Given the description of an element on the screen output the (x, y) to click on. 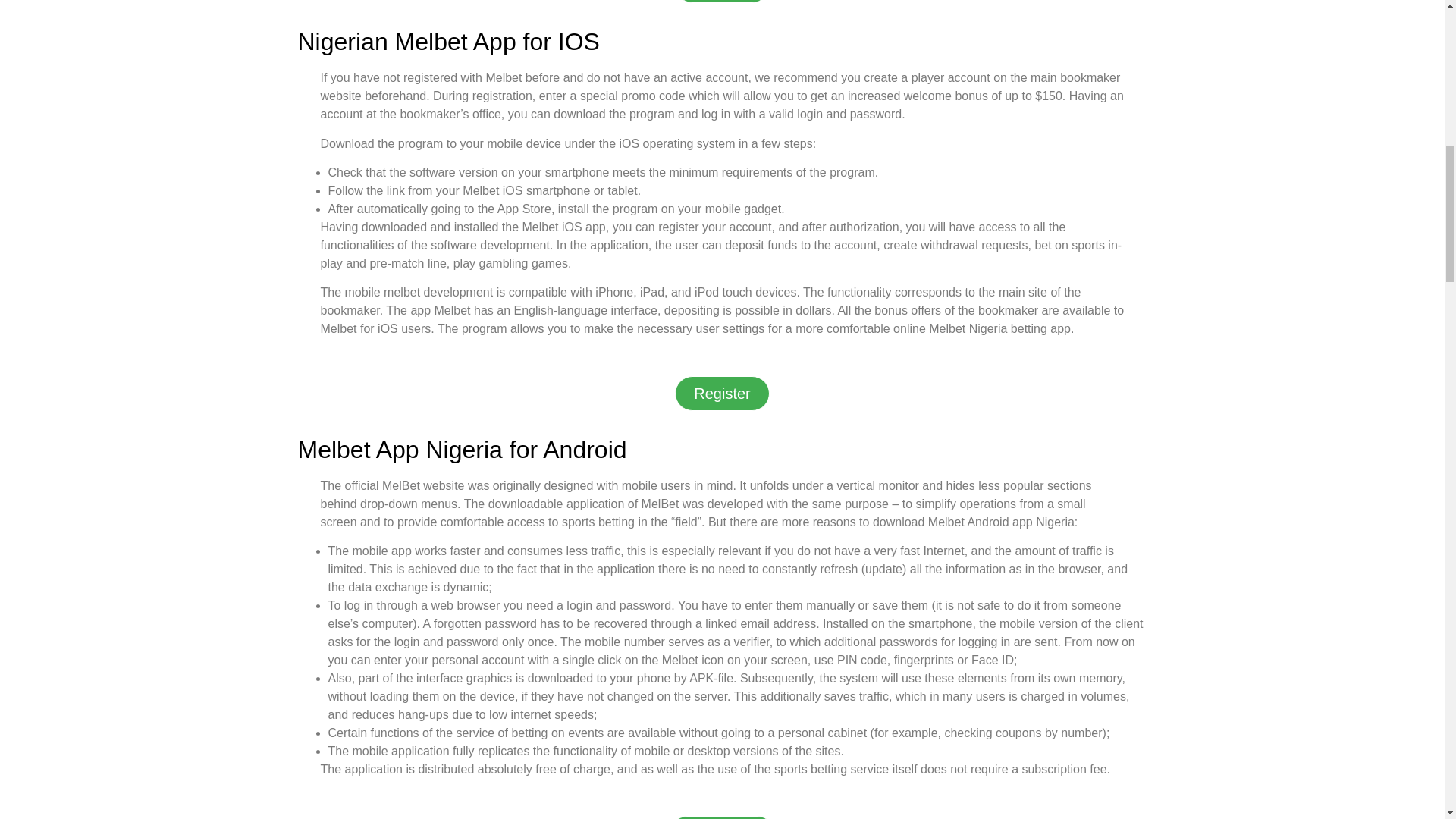
Register (721, 1)
Download (721, 817)
Register (721, 393)
